Given the description of an element on the screen output the (x, y) to click on. 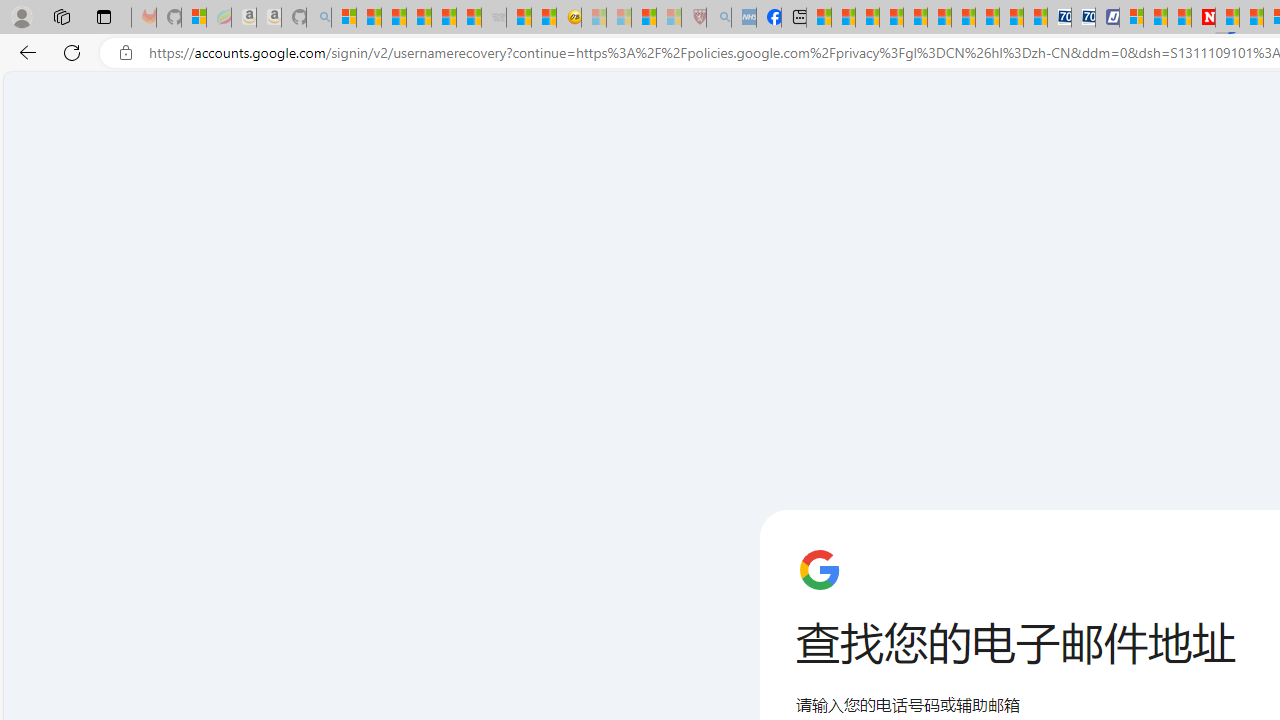
Recipes - MSN - Sleeping (593, 17)
Combat Siege - Sleeping (493, 17)
The Weather Channel - MSN (393, 17)
Newsweek - News, Analysis, Politics, Business, Technology (1202, 17)
Cheap Car Rentals - Save70.com (1059, 17)
Climate Damage Becomes Too Severe To Reverse (890, 17)
Robert H. Shmerling, MD - Harvard Health - Sleeping (694, 17)
Stocks - MSN (469, 17)
